Given the description of an element on the screen output the (x, y) to click on. 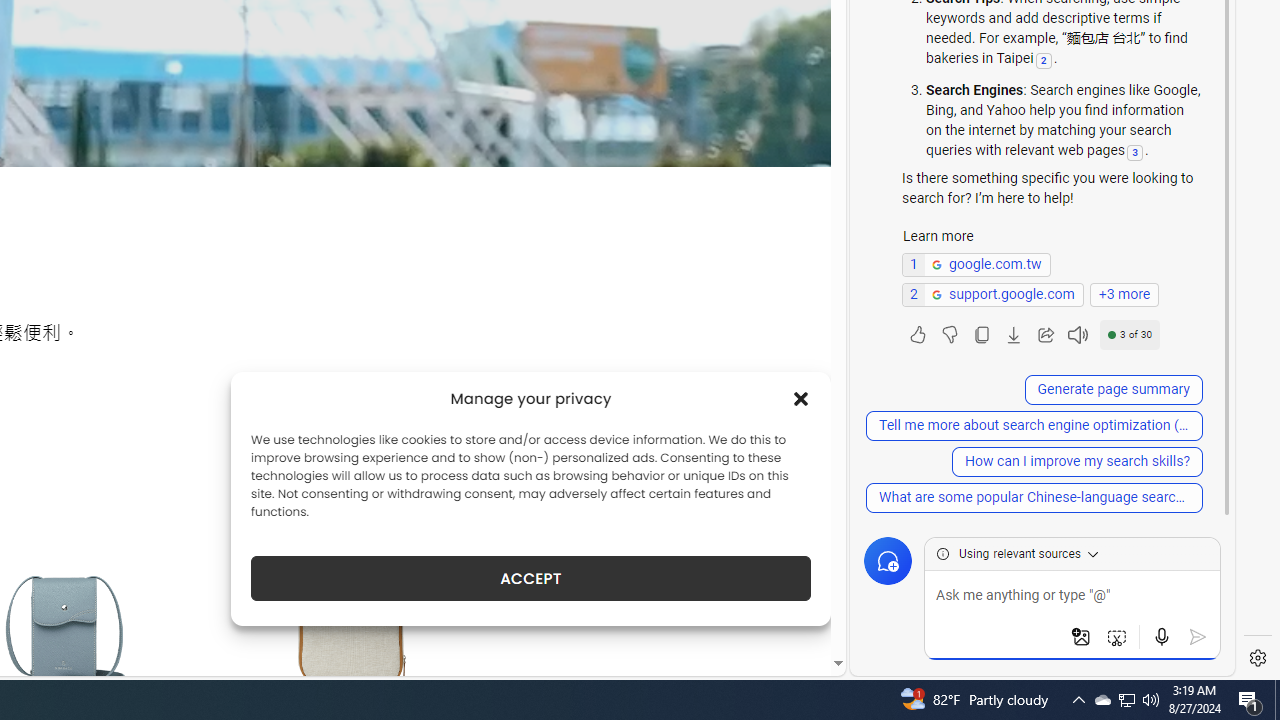
Class: cmplz-close (801, 398)
ACCEPT (530, 578)
